Given the description of an element on the screen output the (x, y) to click on. 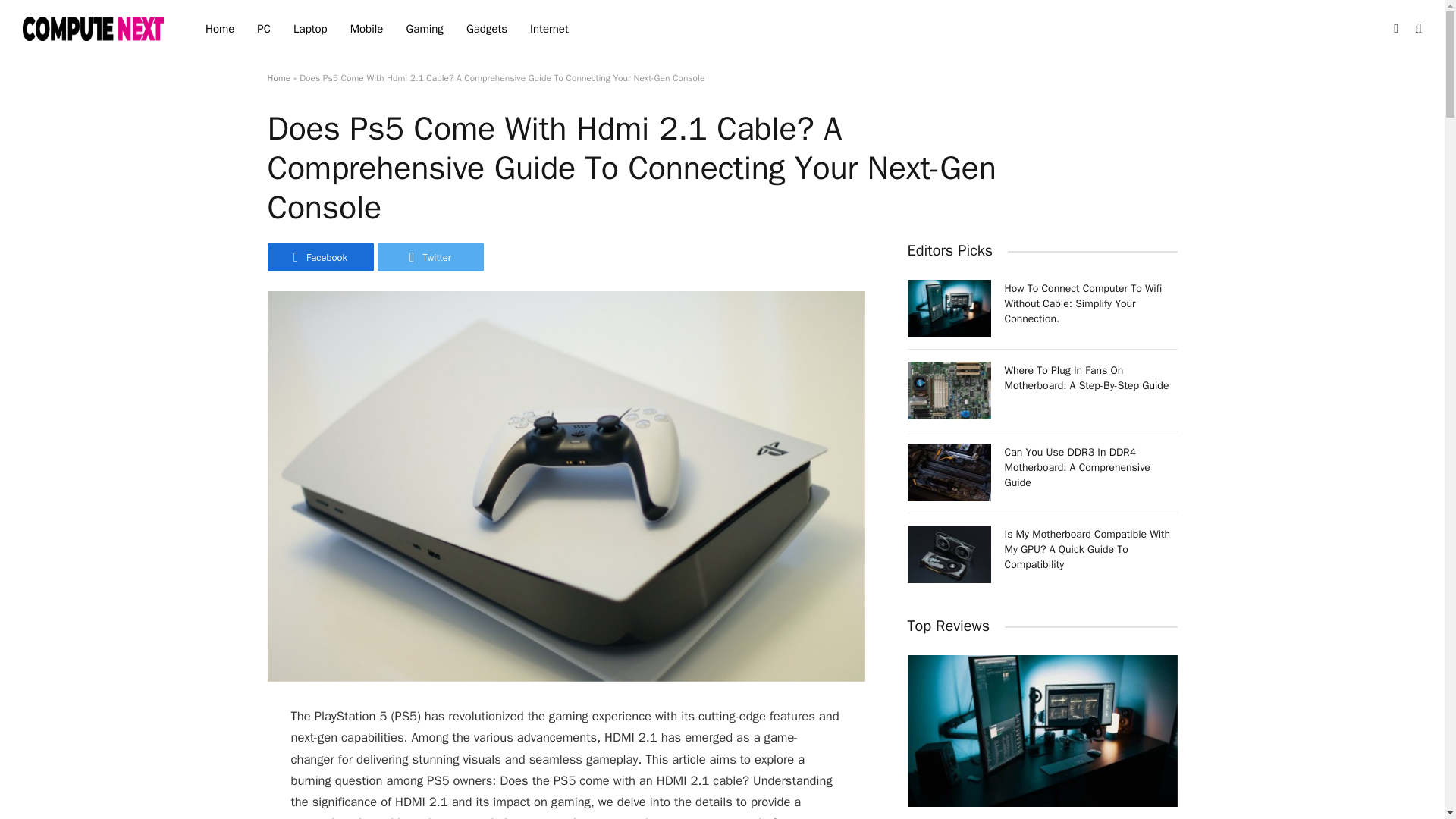
Gaming (424, 28)
Home (277, 78)
Internet (548, 28)
Mobile (366, 28)
Laptop (310, 28)
Facebook (319, 256)
Compute Next (95, 28)
Switch to Dark Design - easier on eyes. (1396, 28)
Share on Facebook (319, 256)
Gadgets (486, 28)
Twitter (430, 256)
Home (219, 28)
